Given the description of an element on the screen output the (x, y) to click on. 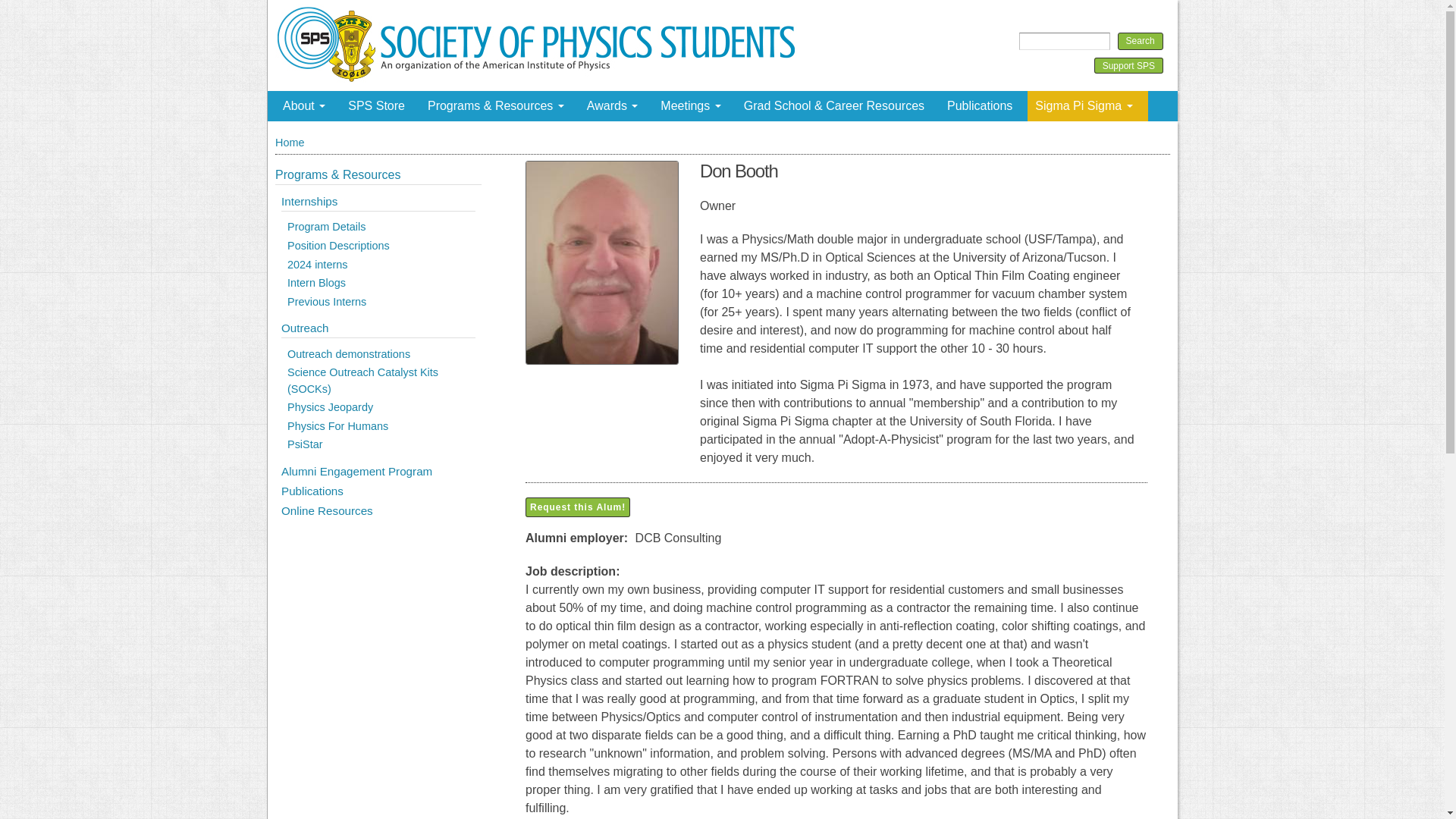
Skip to main content (685, 1)
SPS Programs (337, 174)
About (307, 105)
Search (1140, 40)
SPS Awards and Scholarships (616, 105)
Search (1140, 40)
About SPS National (307, 105)
Meetings (693, 105)
Support SPS (1128, 65)
